Given the description of an element on the screen output the (x, y) to click on. 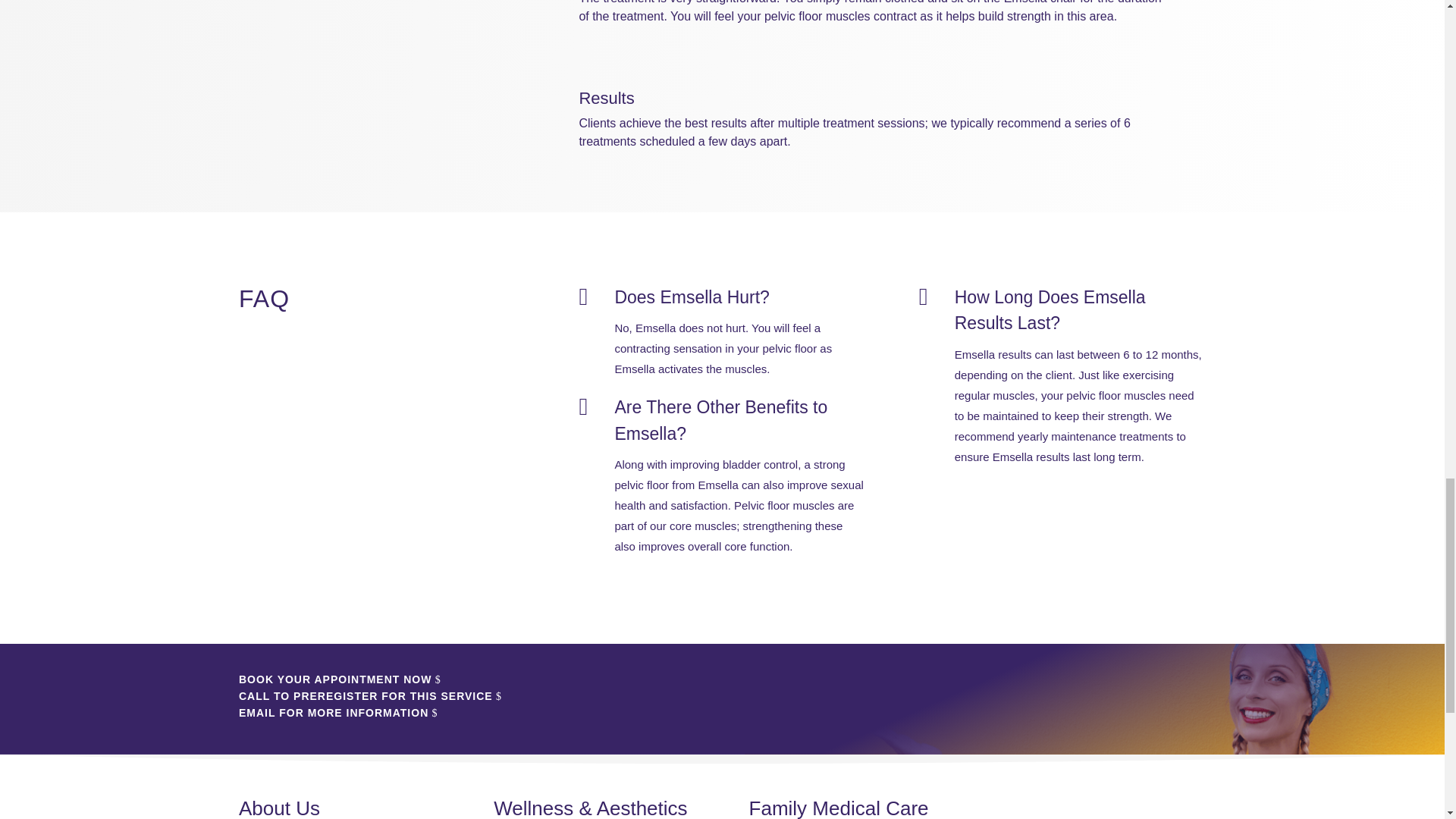
CALL TO PREREGISTER FOR THIS SERVICE (365, 696)
EMAIL FOR MORE INFORMATION (333, 713)
BOOK YOUR APPOINTMENT NOW (334, 679)
